Given the description of an element on the screen output the (x, y) to click on. 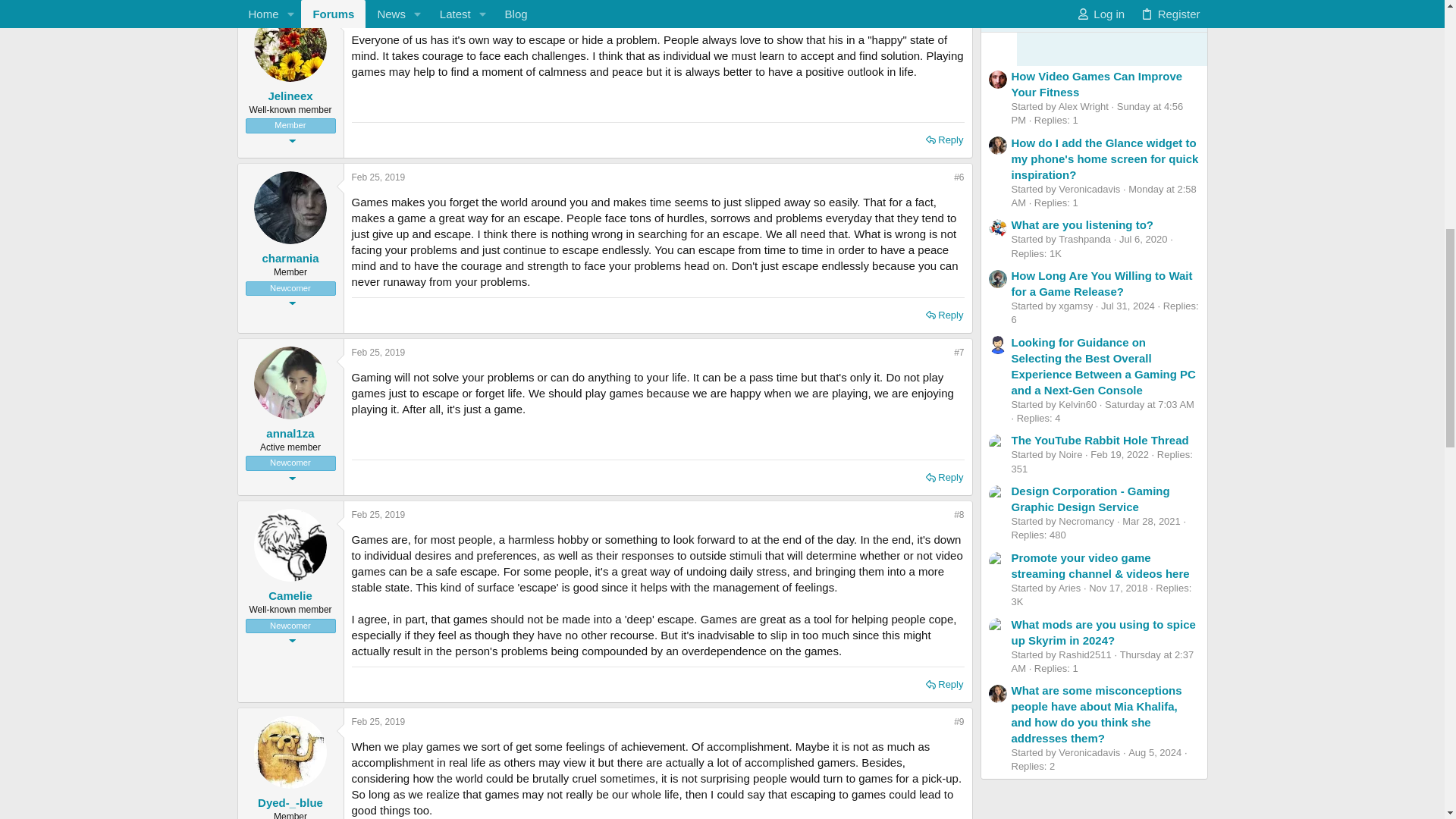
Reply, quoting this message (944, 315)
Reply, quoting this message (944, 477)
Feb 25, 2019 at 2:00 AM (379, 514)
Reply, quoting this message (944, 139)
Feb 25, 2019 at 11:17 AM (379, 721)
Feb 25, 2019 at 12:25 AM (379, 176)
Feb 25, 2019 at 1:17 AM (379, 352)
Feb 24, 2019 at 10:11 PM (379, 14)
Reply, quoting this message (944, 684)
